Given the description of an element on the screen output the (x, y) to click on. 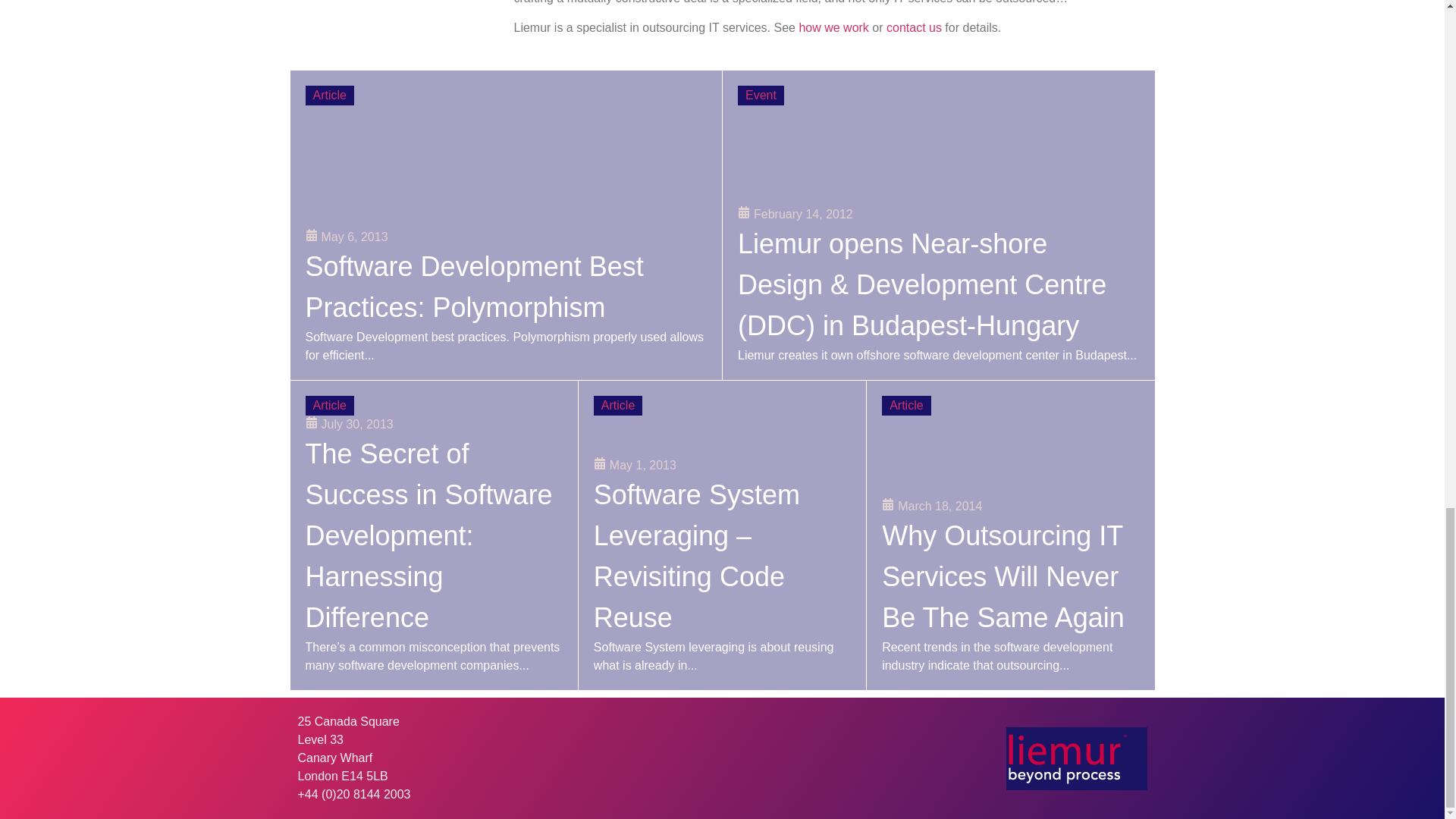
Article (328, 95)
how we work (832, 27)
contact us (914, 27)
